Given the description of an element on the screen output the (x, y) to click on. 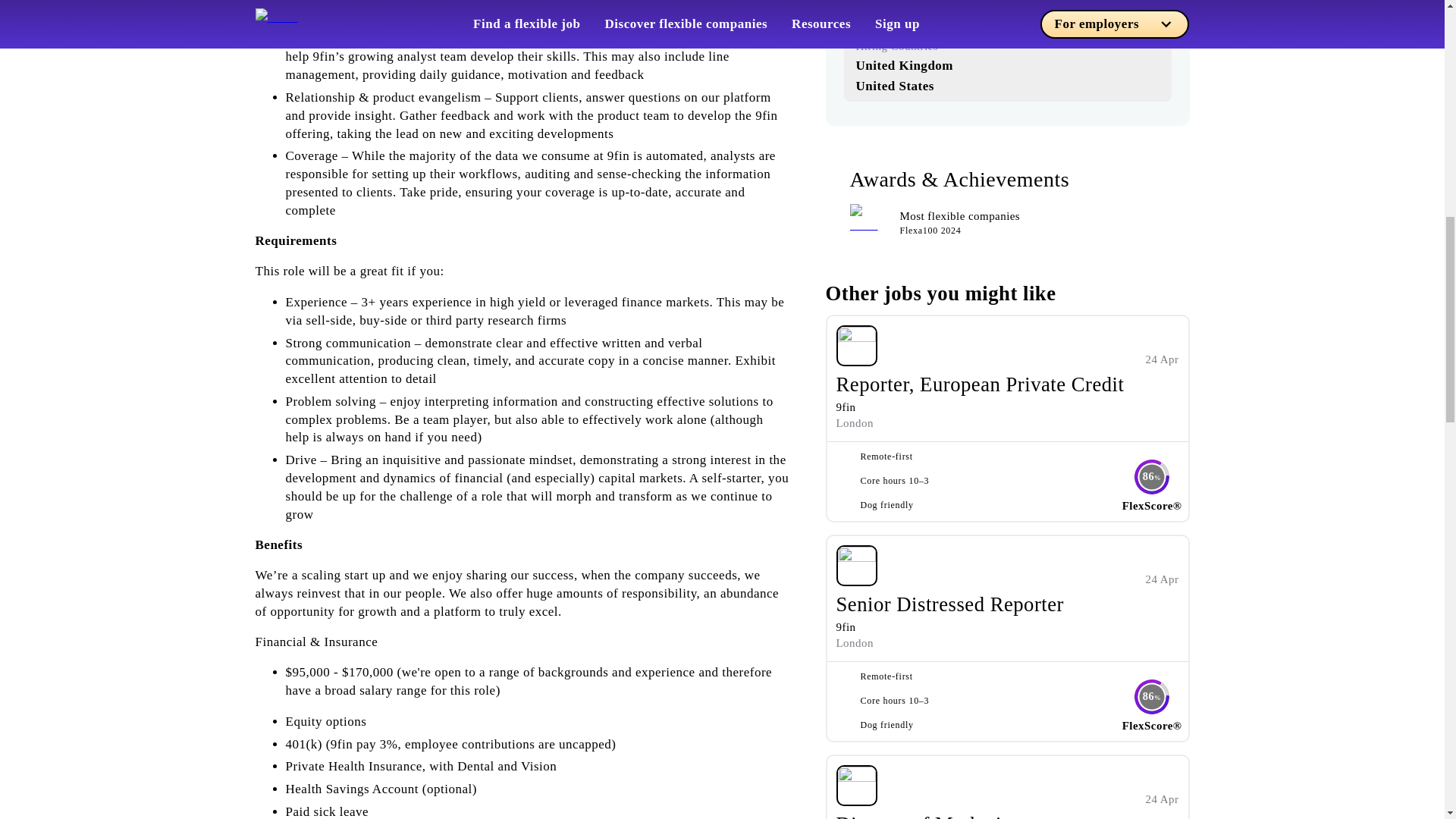
9fin (845, 407)
9fin (845, 626)
Director of Marketing (928, 816)
Reporter, European Private Credit (979, 384)
Senior Distressed Reporter (949, 603)
